Given the description of an element on the screen output the (x, y) to click on. 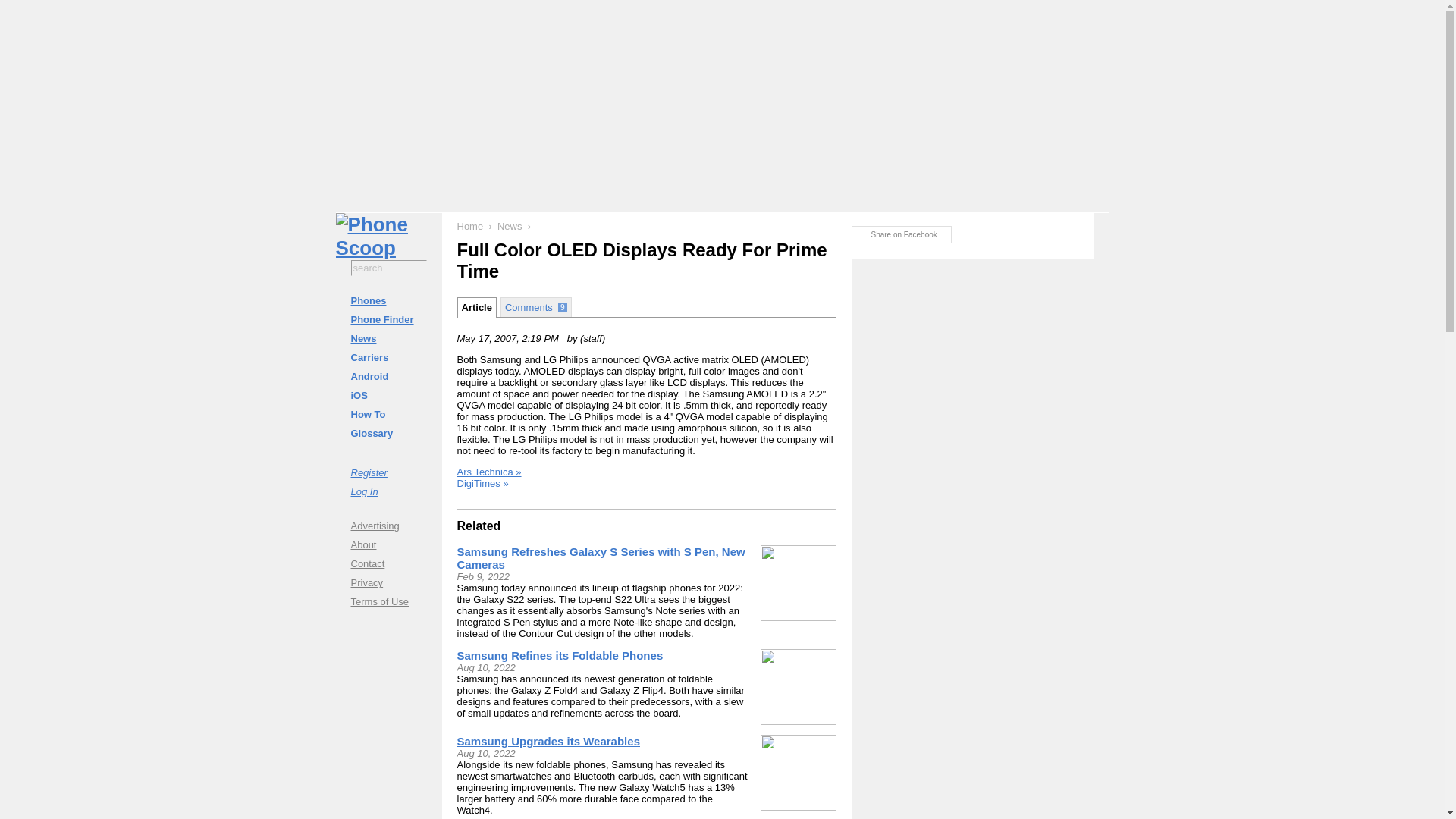
News (509, 225)
Phone Finder (387, 319)
Privacy (387, 582)
Register (387, 471)
Related (478, 525)
Contact (387, 562)
Share on Facebook (900, 234)
Comments  9 (536, 306)
Carriers (387, 357)
About (387, 544)
